Given the description of an element on the screen output the (x, y) to click on. 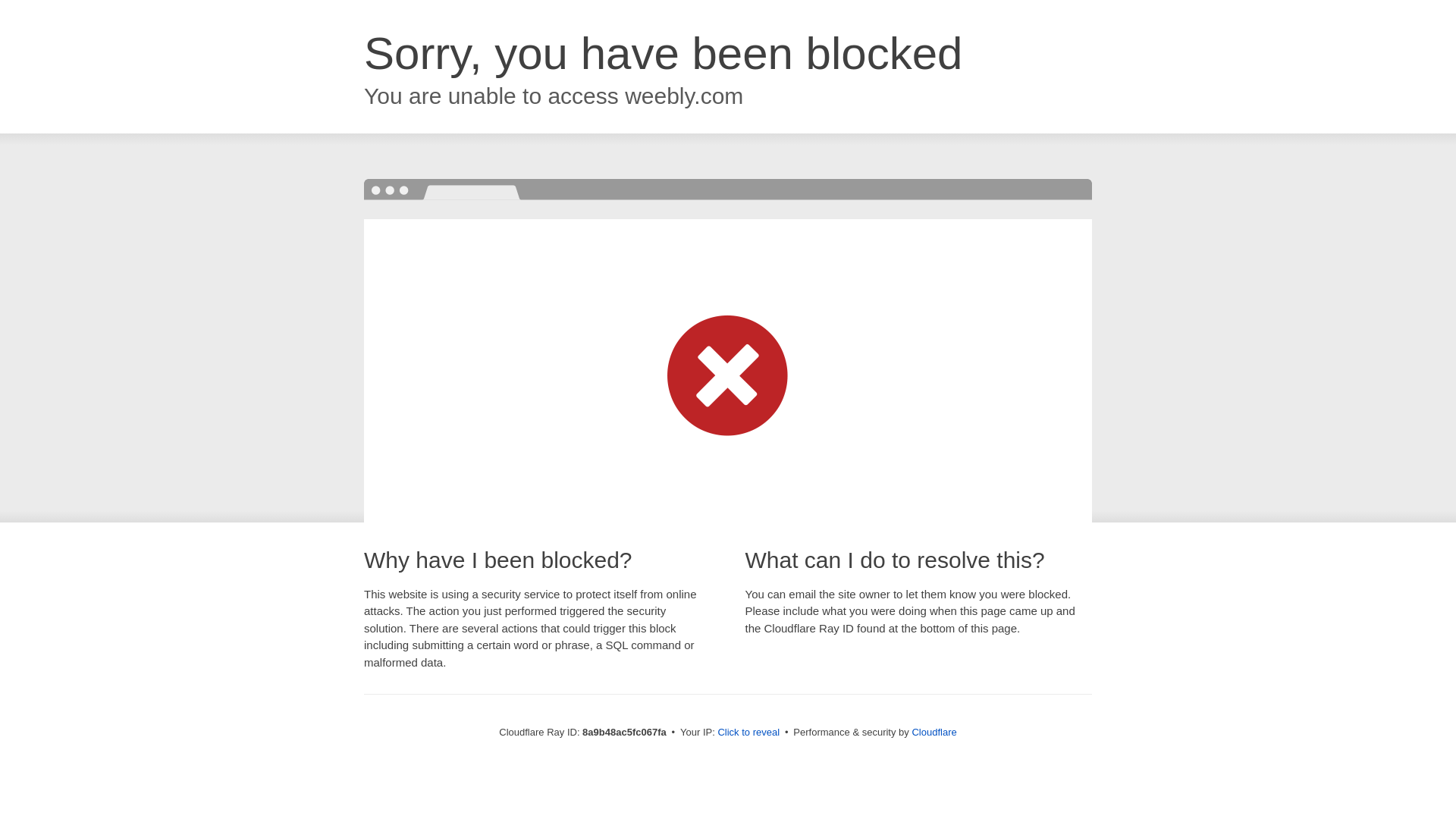
Click to reveal (747, 732)
Cloudflare (933, 731)
